Given the description of an element on the screen output the (x, y) to click on. 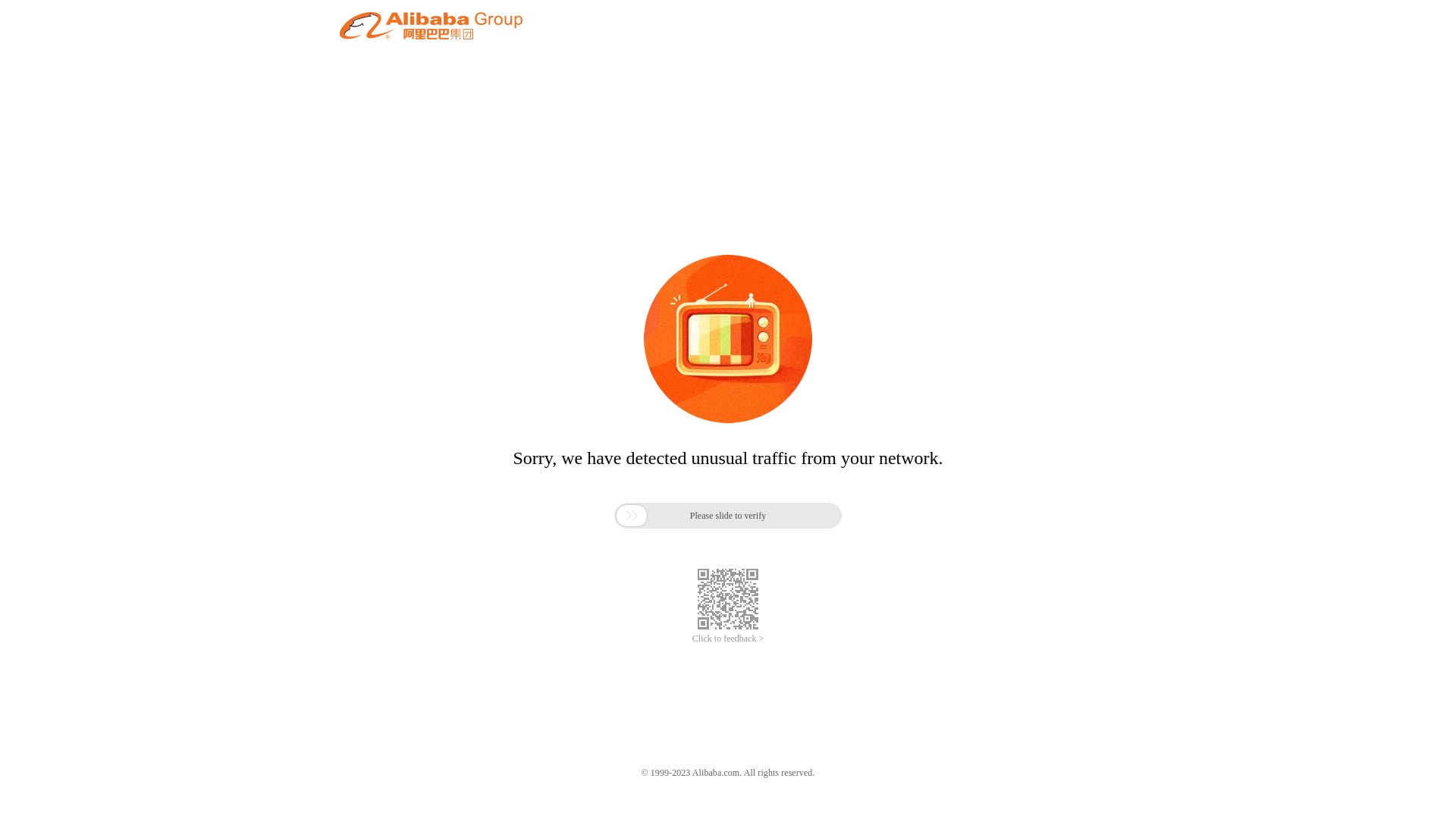
Click to feedback > Element type: text (727, 638)
